Given the description of an element on the screen output the (x, y) to click on. 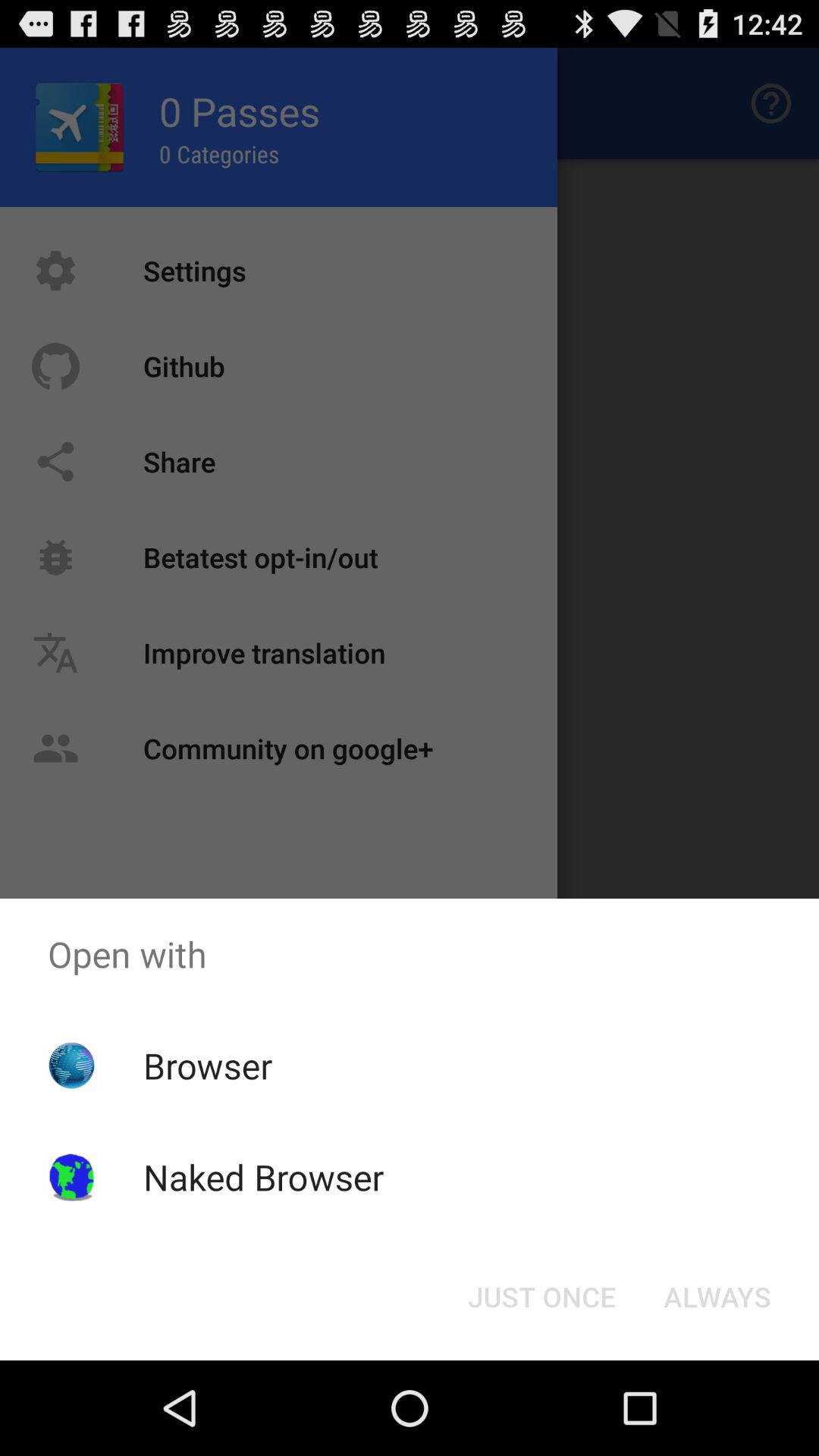
jump to the just once icon (541, 1296)
